Given the description of an element on the screen output the (x, y) to click on. 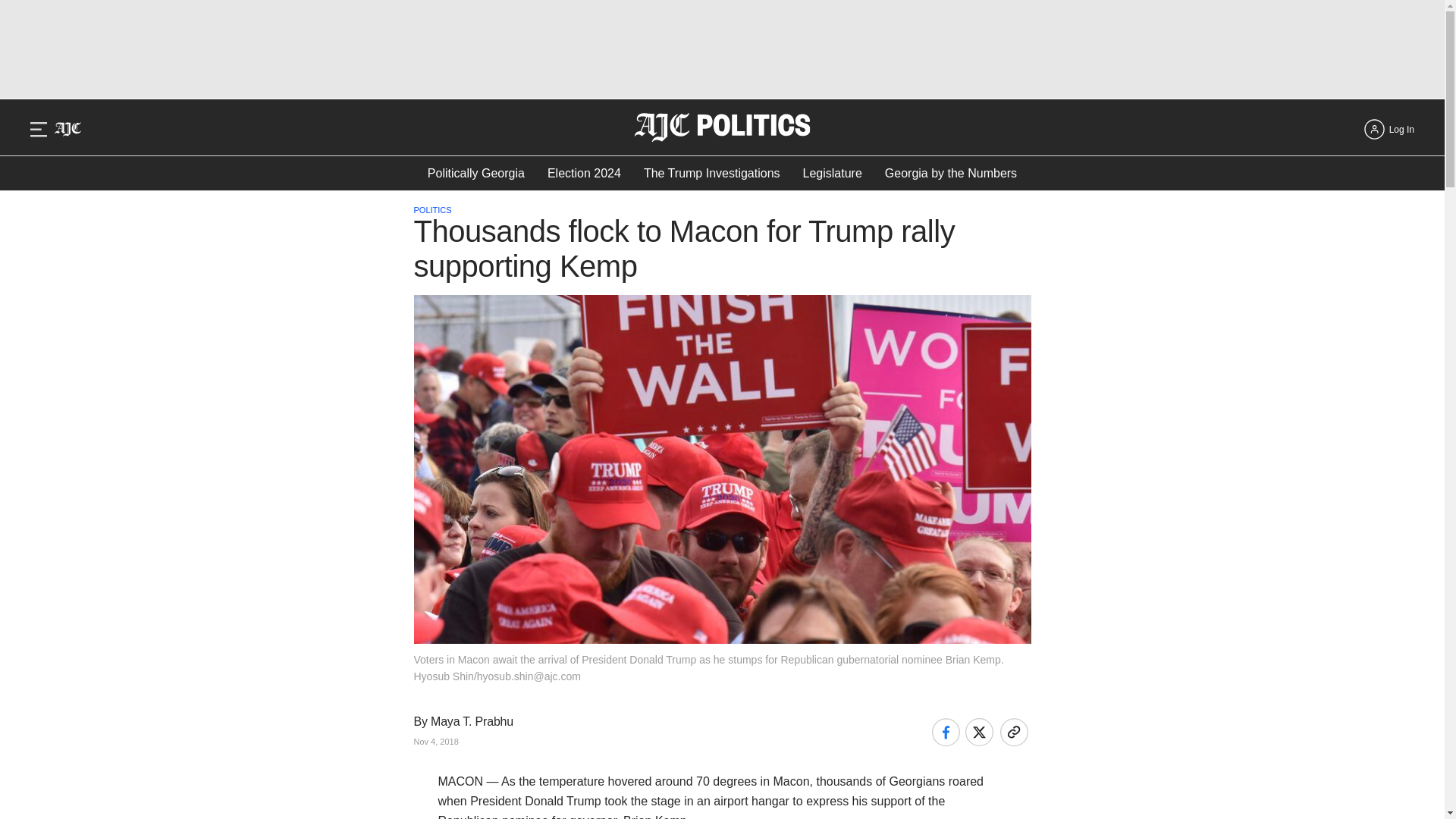
Politically Georgia (476, 173)
Georgia by the Numbers (950, 173)
The Trump Investigations (711, 173)
Legislature (832, 173)
Election 2024 (584, 173)
